Given the description of an element on the screen output the (x, y) to click on. 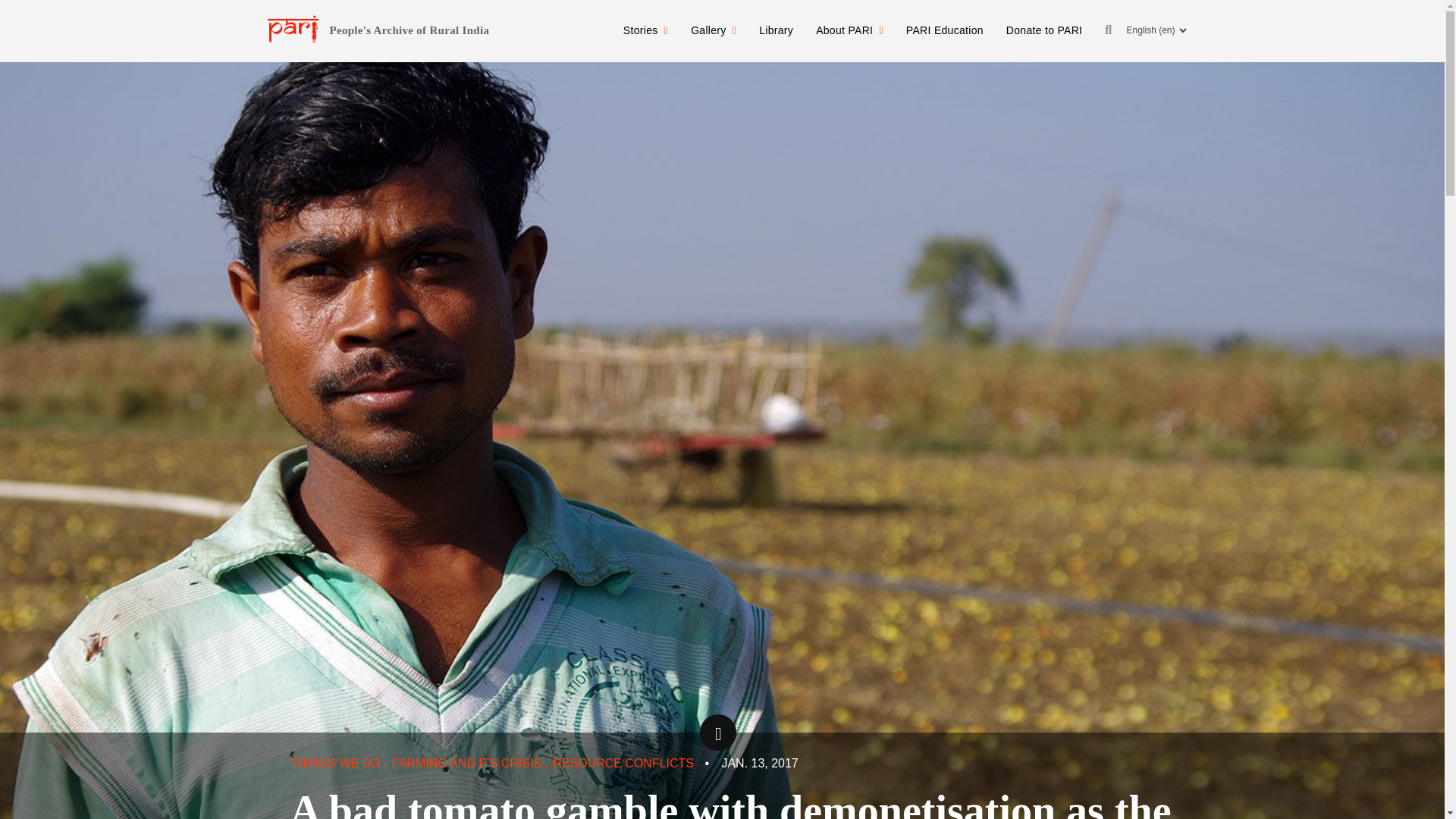
People's Archive of Rural India (409, 30)
Gallery (713, 30)
About PARI (850, 30)
Library (776, 30)
Stories (645, 30)
